Given the description of an element on the screen output the (x, y) to click on. 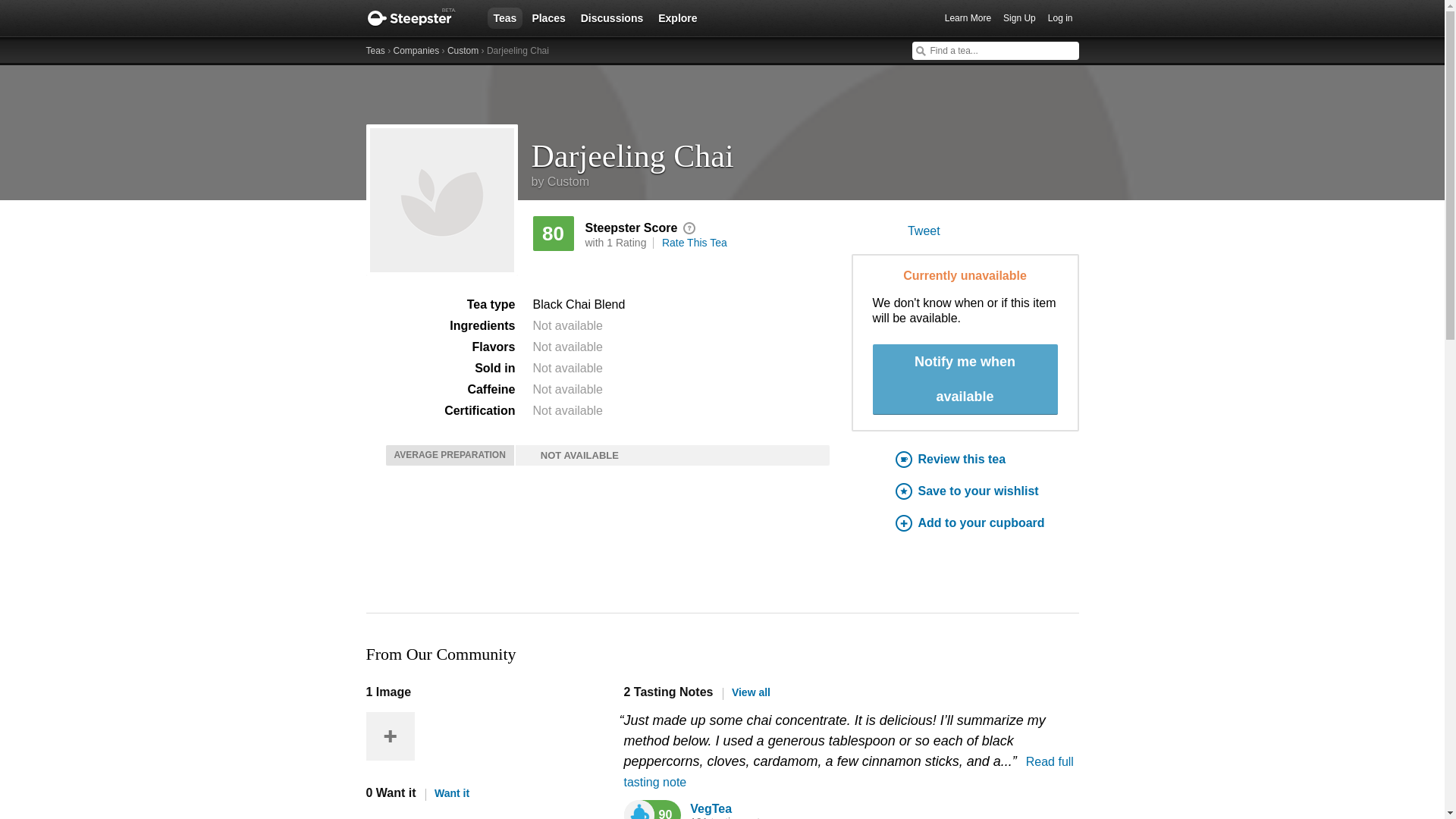
by Custom (559, 181)
Read full tasting note (848, 771)
Learn More (968, 18)
Darjeeling Chai (804, 150)
Rate This Tea (694, 242)
Sign Up (1019, 18)
Save to your wishlist (986, 490)
Log in (1060, 18)
Add to your cupboard (986, 522)
Tweet (923, 230)
